Given the description of an element on the screen output the (x, y) to click on. 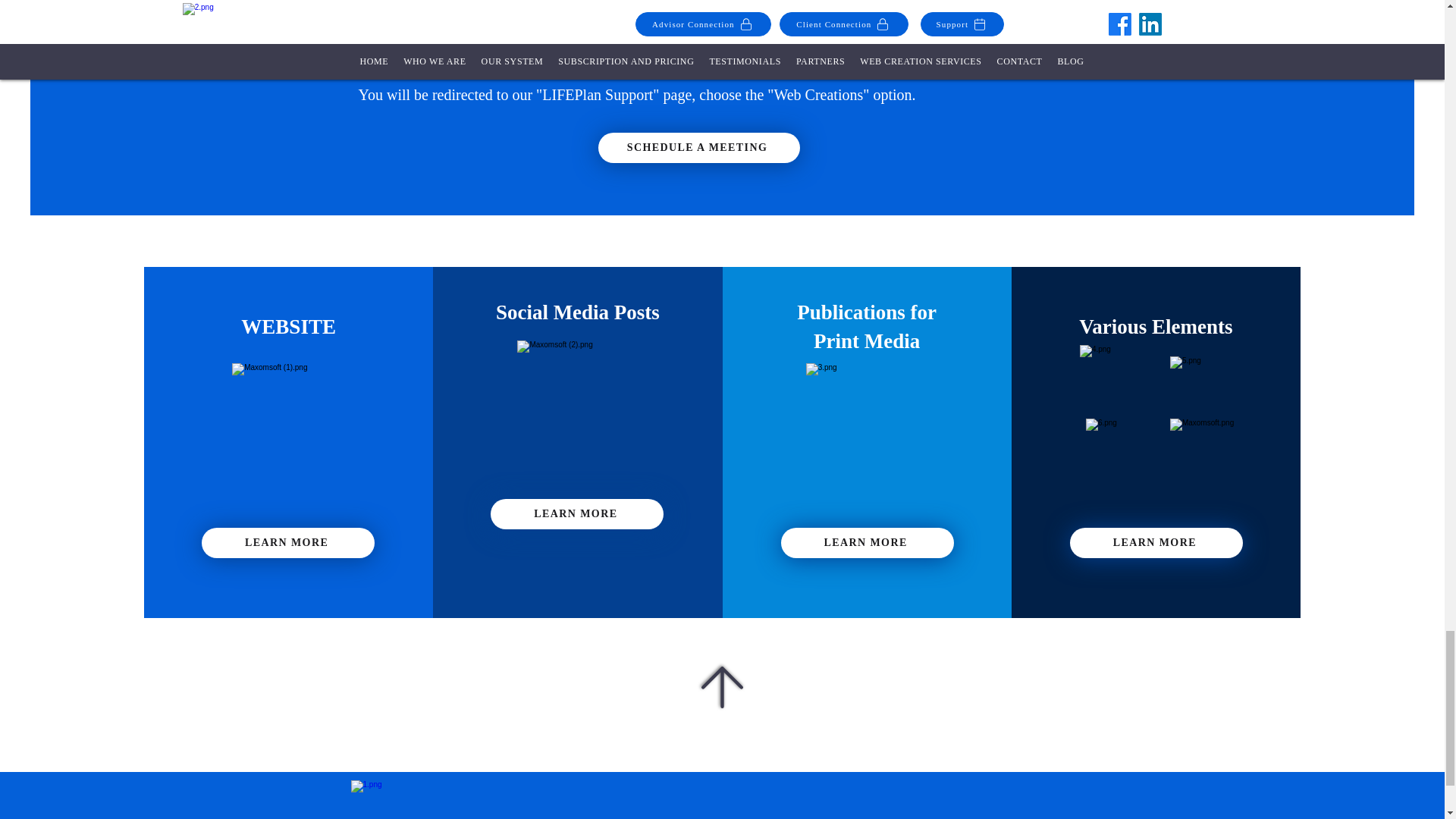
LEARN MORE (866, 542)
LEARN MORE (1156, 542)
LEARN MORE (288, 542)
LEARN MORE (576, 513)
SCHEDULE A MEETING (697, 147)
